Given the description of an element on the screen output the (x, y) to click on. 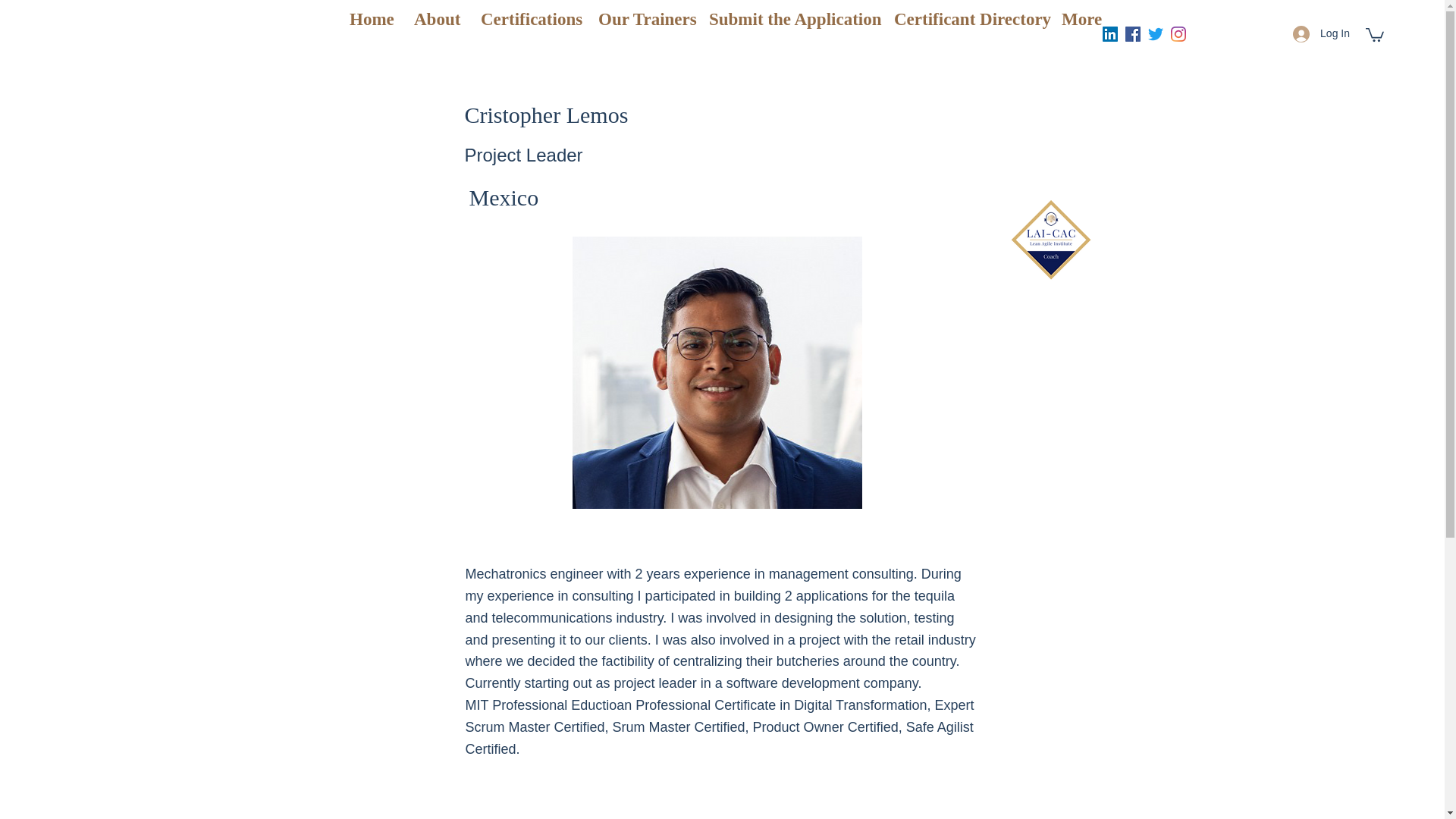
Cristopher Lemos (716, 372)
Certificant Directory (965, 19)
Home (370, 19)
Log In (1320, 33)
LAI-CAC.png (1051, 239)
About (435, 19)
Our Trainers (641, 19)
Submit the Application (789, 19)
